Given the description of an element on the screen output the (x, y) to click on. 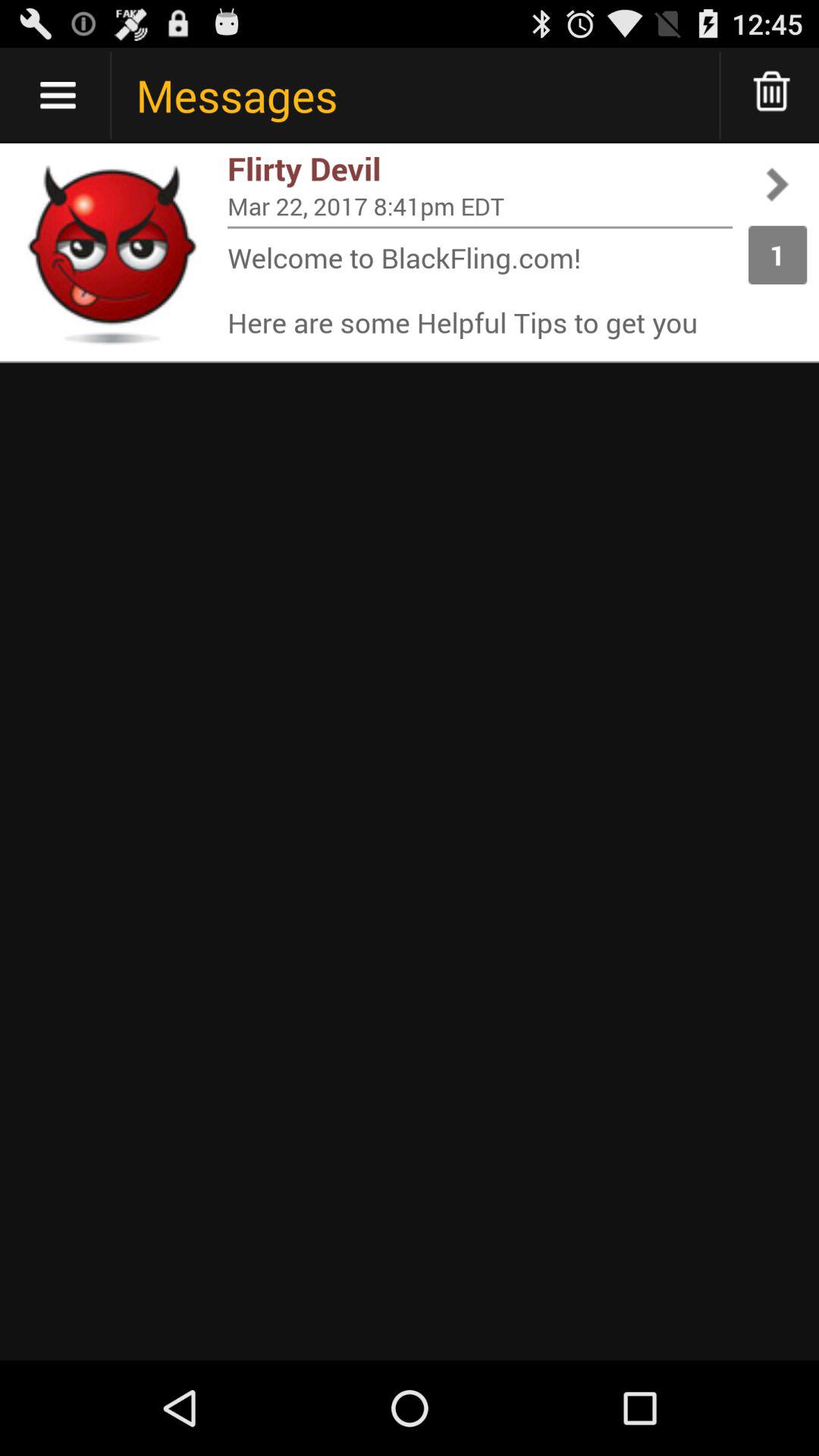
open item above welcome to blackfling (479, 227)
